Given the description of an element on the screen output the (x, y) to click on. 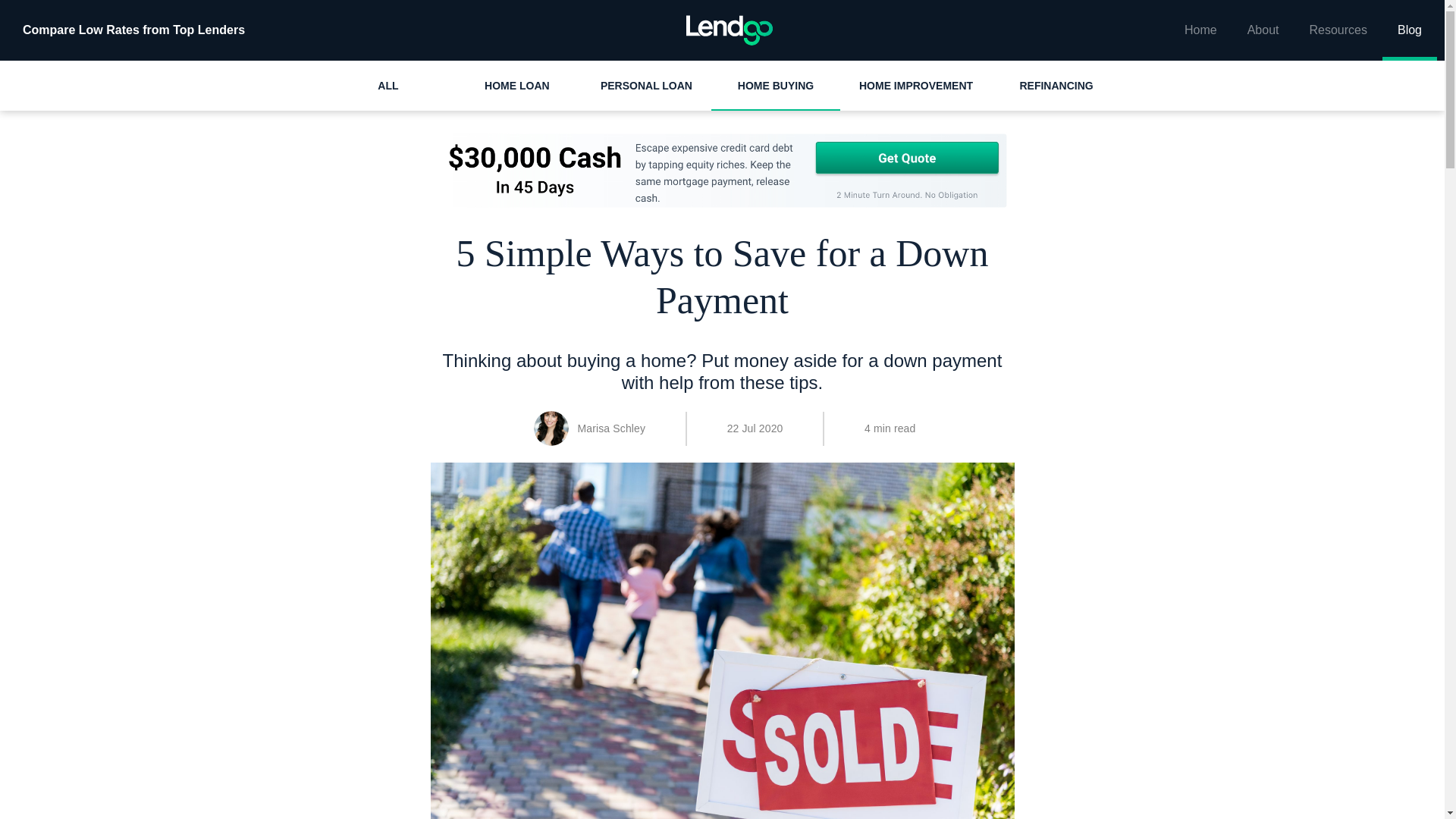
HOME LOAN (516, 85)
ALL (387, 85)
About (1262, 30)
HOME IMPROVEMENT (915, 85)
Home (1200, 30)
Resources (1337, 30)
HOME BUYING (775, 85)
Blog (1409, 30)
REFINANCING (1056, 85)
PERSONAL LOAN (645, 85)
